Given the description of an element on the screen output the (x, y) to click on. 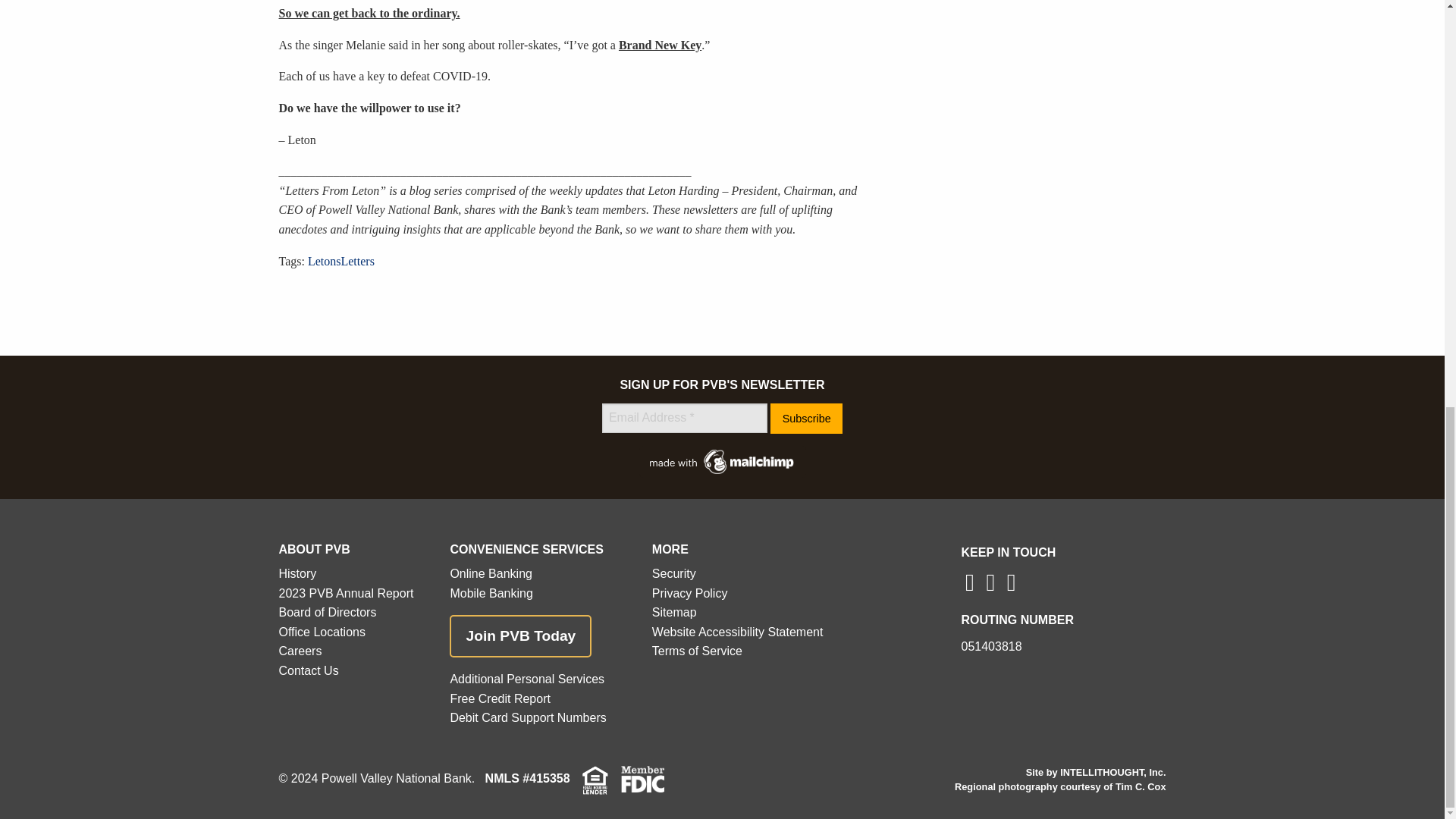
Subscribe (806, 418)
